Given the description of an element on the screen output the (x, y) to click on. 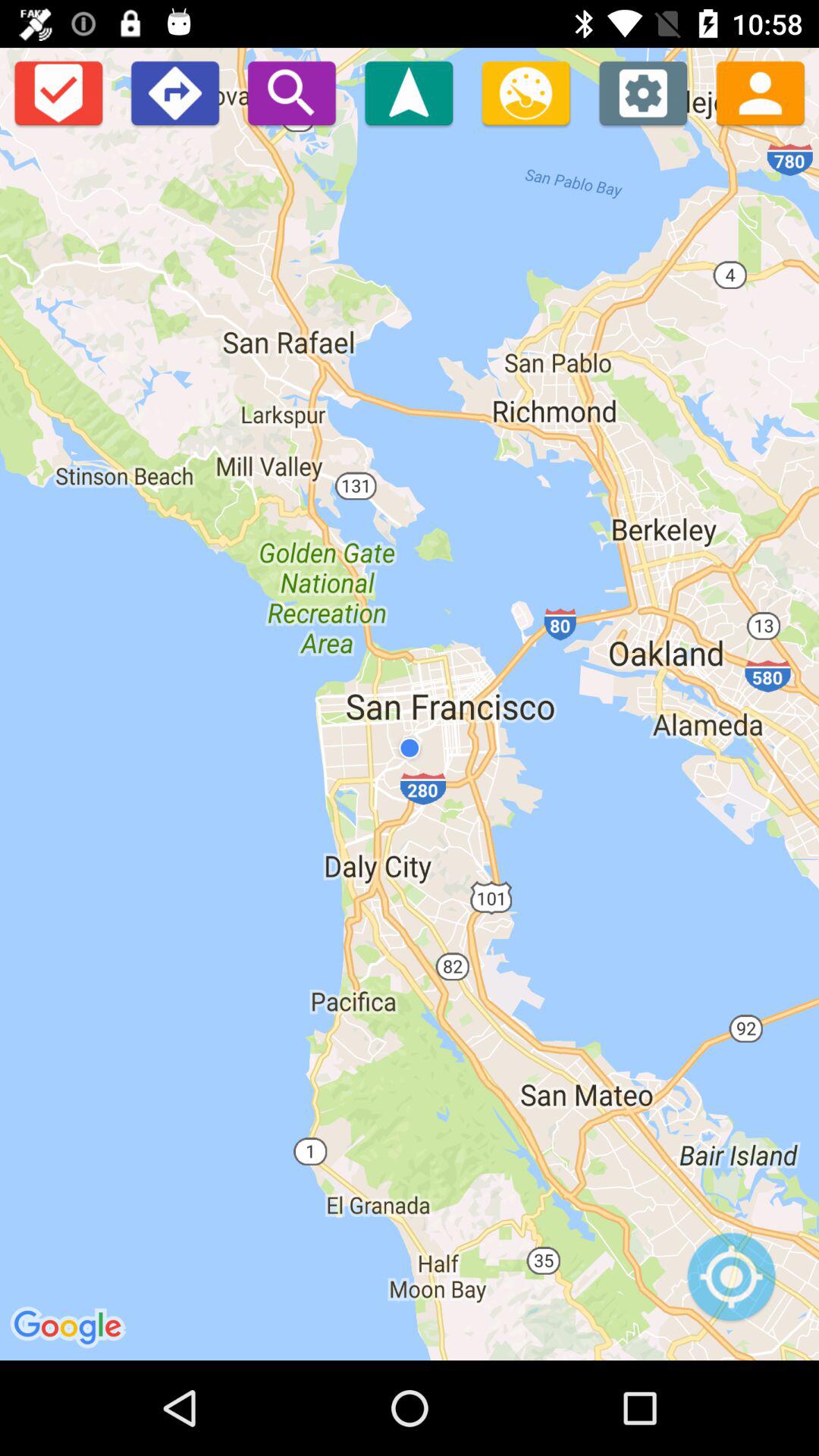
open contacts page (760, 92)
